Given the description of an element on the screen output the (x, y) to click on. 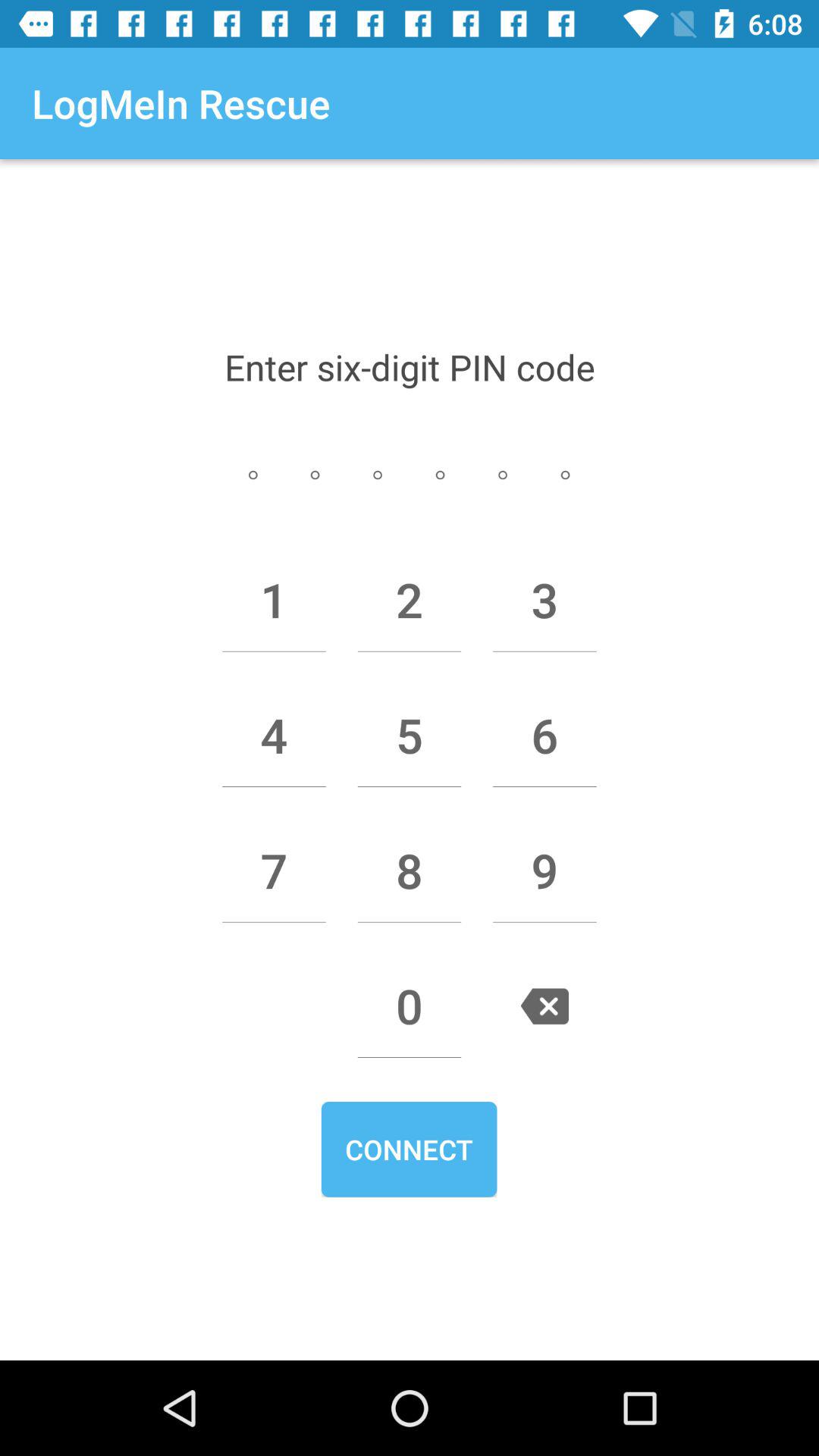
launch item next to 1 icon (409, 599)
